Given the description of an element on the screen output the (x, y) to click on. 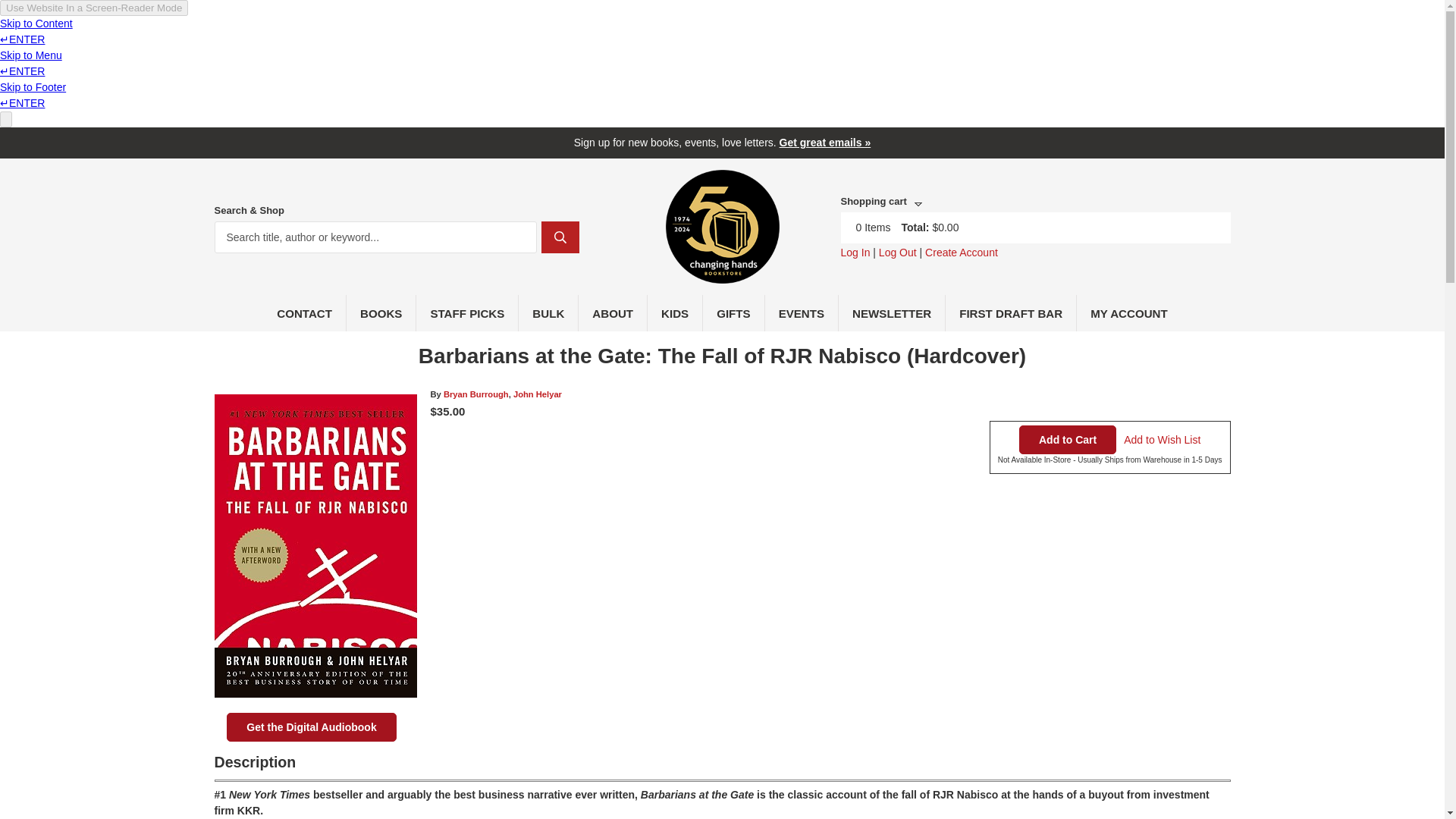
Get the Digital Audiobook (311, 727)
Log Out (898, 252)
Search (560, 237)
Create Account (960, 252)
CONTACT (304, 312)
Search (560, 237)
ABOUT (612, 312)
Search title, author or keyword... (374, 237)
Add to Cart (1067, 439)
BOOKS (381, 312)
Home page (721, 275)
BULK (548, 312)
Log In (854, 252)
STAFF PICKS (467, 312)
